Given the description of an element on the screen output the (x, y) to click on. 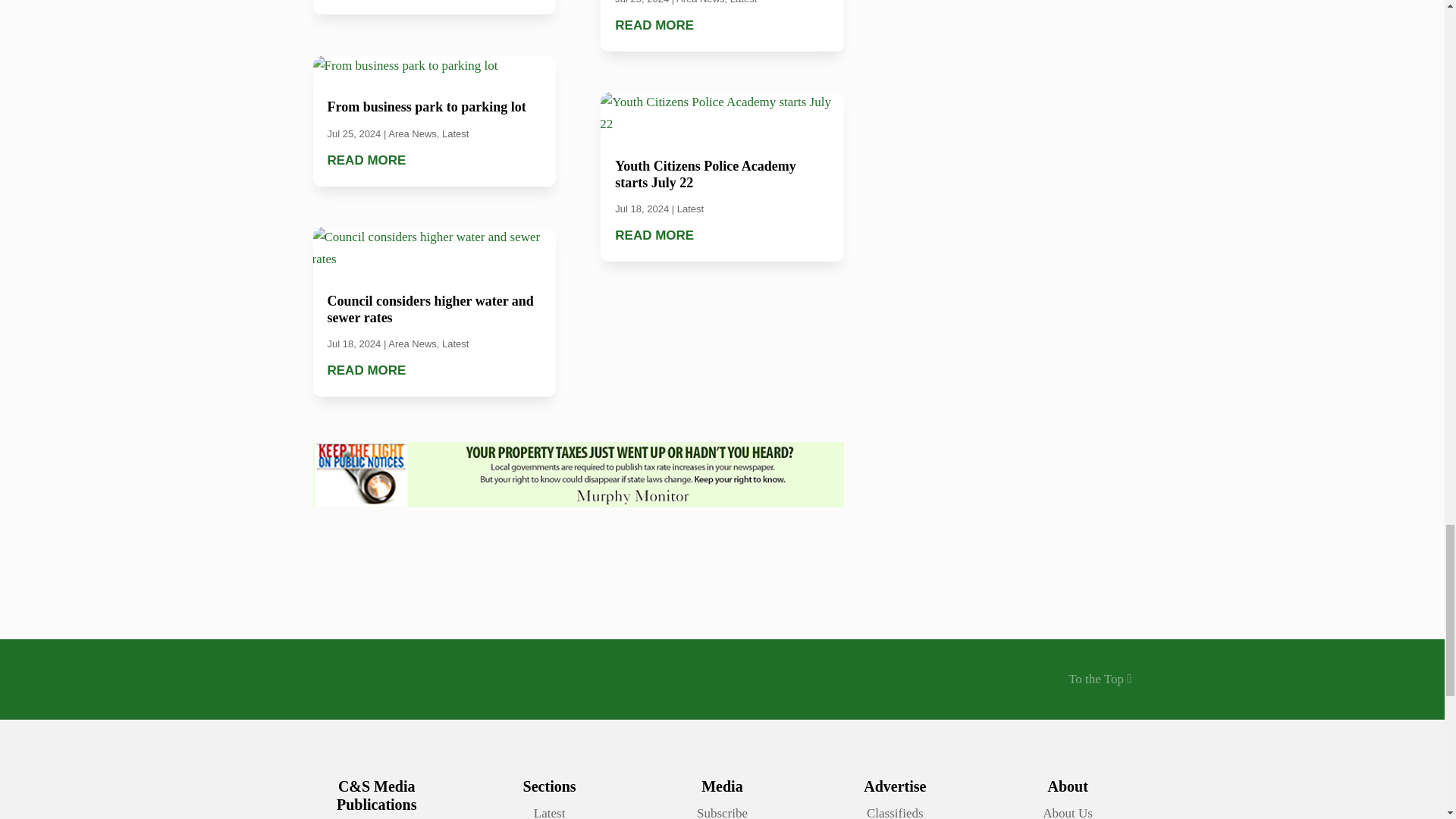
MM-300x250 (578, 474)
